Given the description of an element on the screen output the (x, y) to click on. 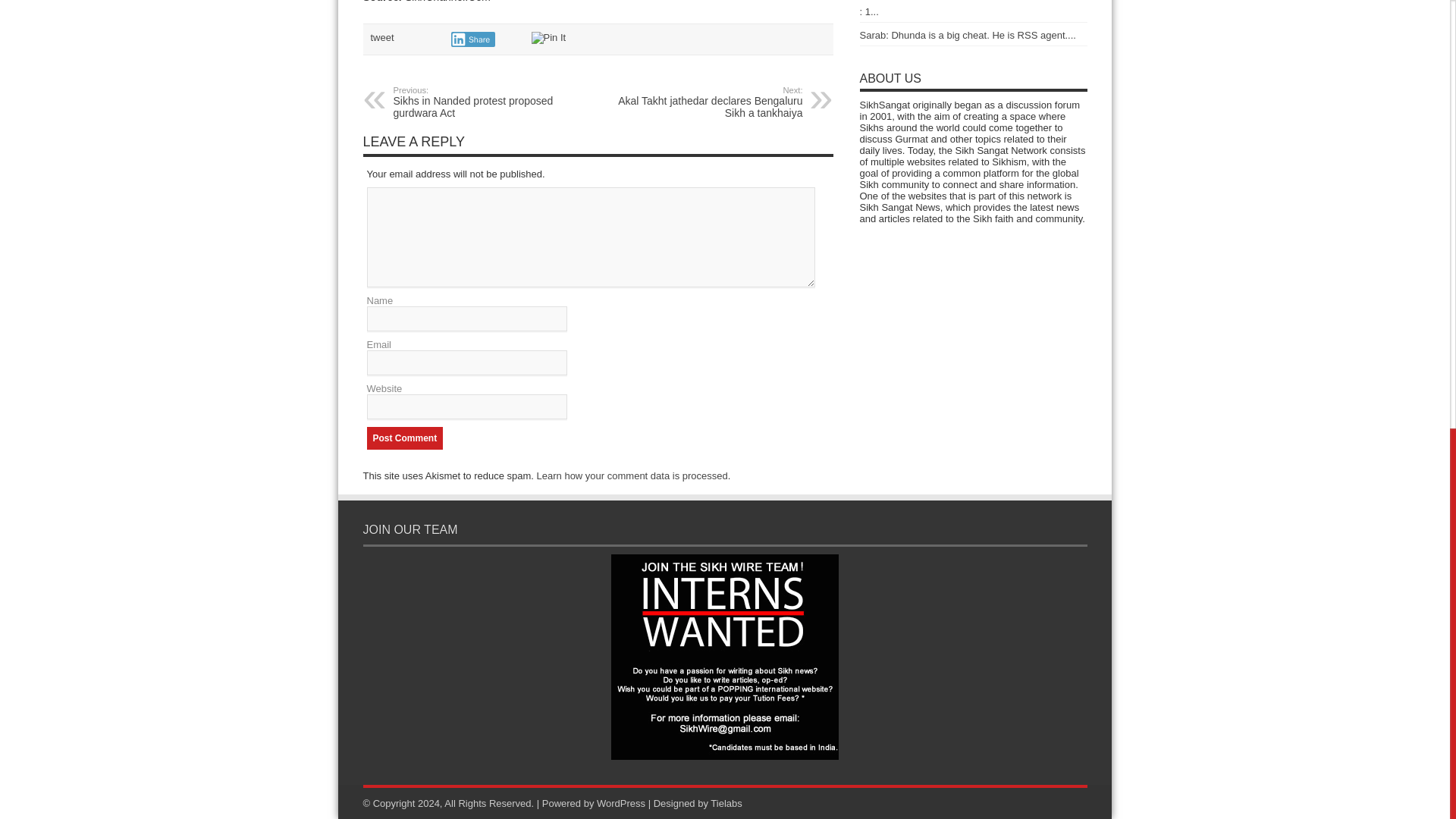
Post Comment (405, 437)
